Given the description of an element on the screen output the (x, y) to click on. 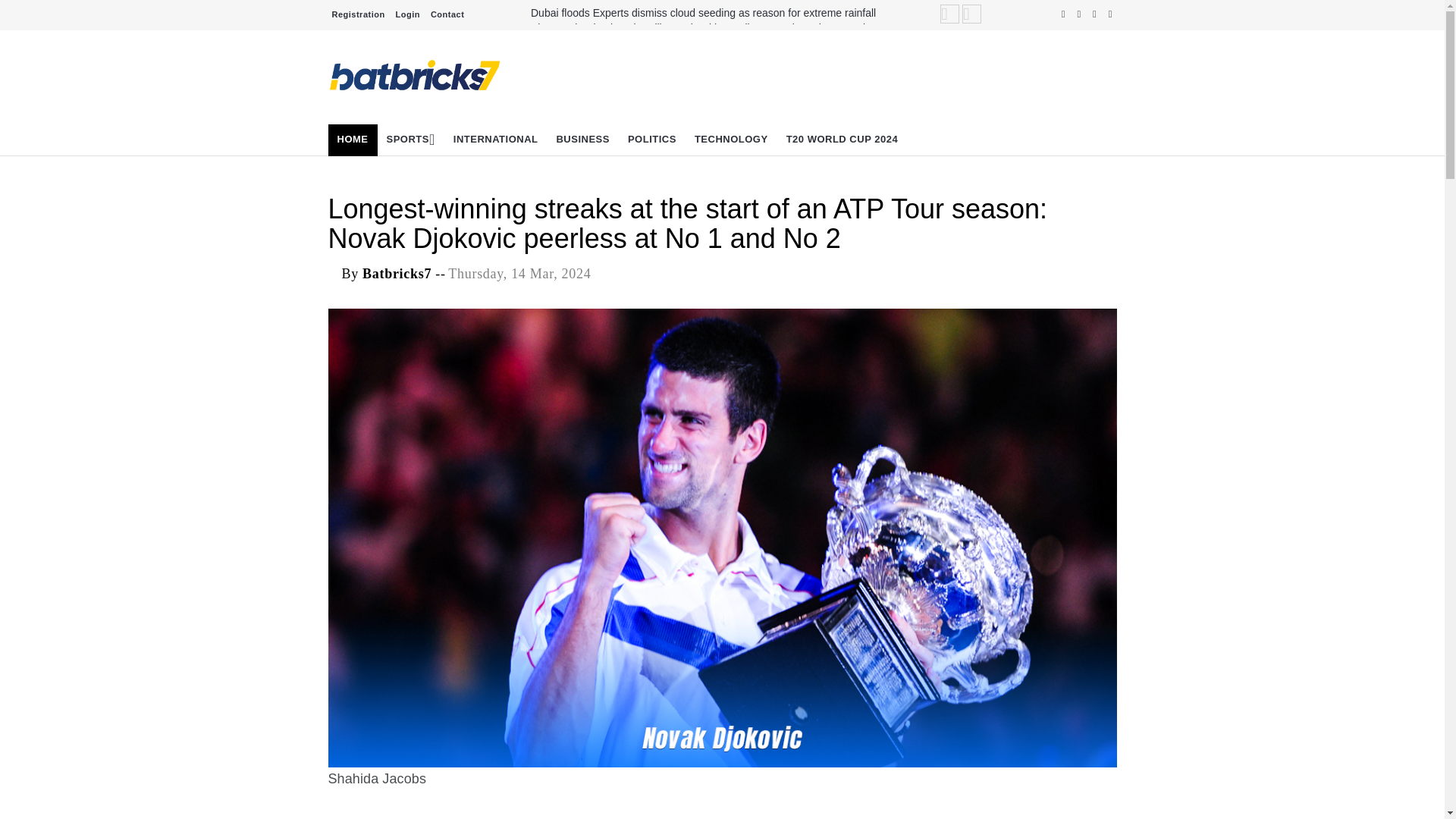
Contact (446, 14)
Registration (357, 14)
Login (407, 14)
POLITICS (651, 140)
BUSINESS (582, 140)
T20 WORLD CUP 2024 (842, 140)
TECHNOLOGY (731, 140)
SPORTS (410, 140)
HOME (352, 140)
INTERNATIONAL (495, 140)
